Given the description of an element on the screen output the (x, y) to click on. 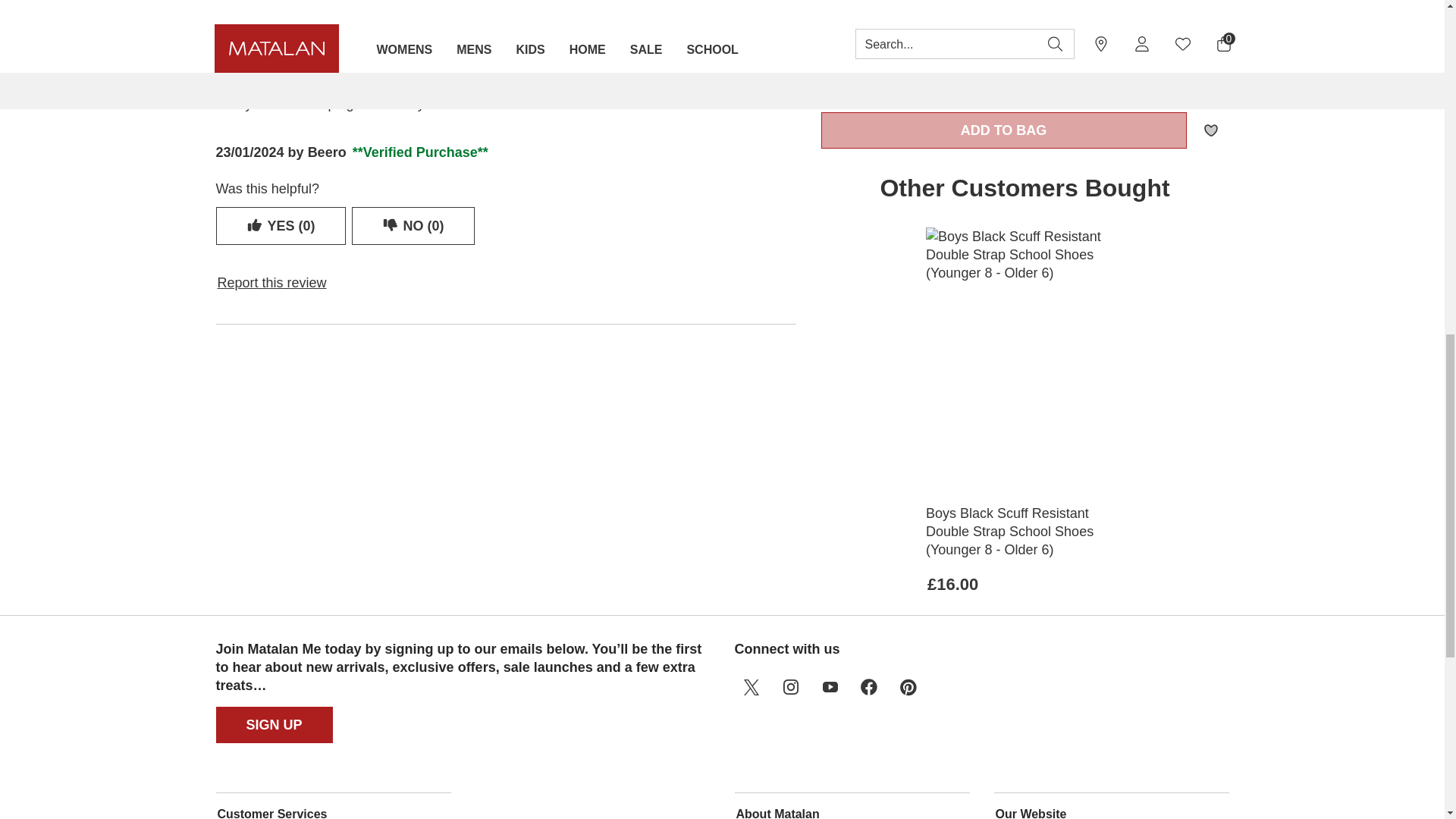
twitter (750, 686)
1 (881, 75)
Select a size (1024, 10)
SIGN UP (273, 724)
youtube (828, 686)
pinterest (907, 686)
instagram (789, 686)
ADD TO BAG (1004, 130)
Report this review (271, 282)
facebook (868, 686)
